Given the description of an element on the screen output the (x, y) to click on. 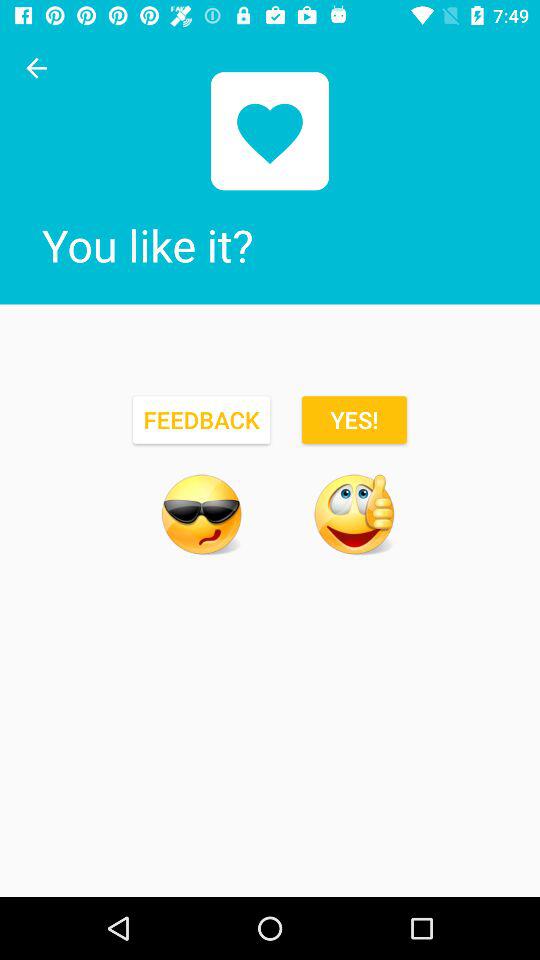
go to emojios (201, 514)
